Given the description of an element on the screen output the (x, y) to click on. 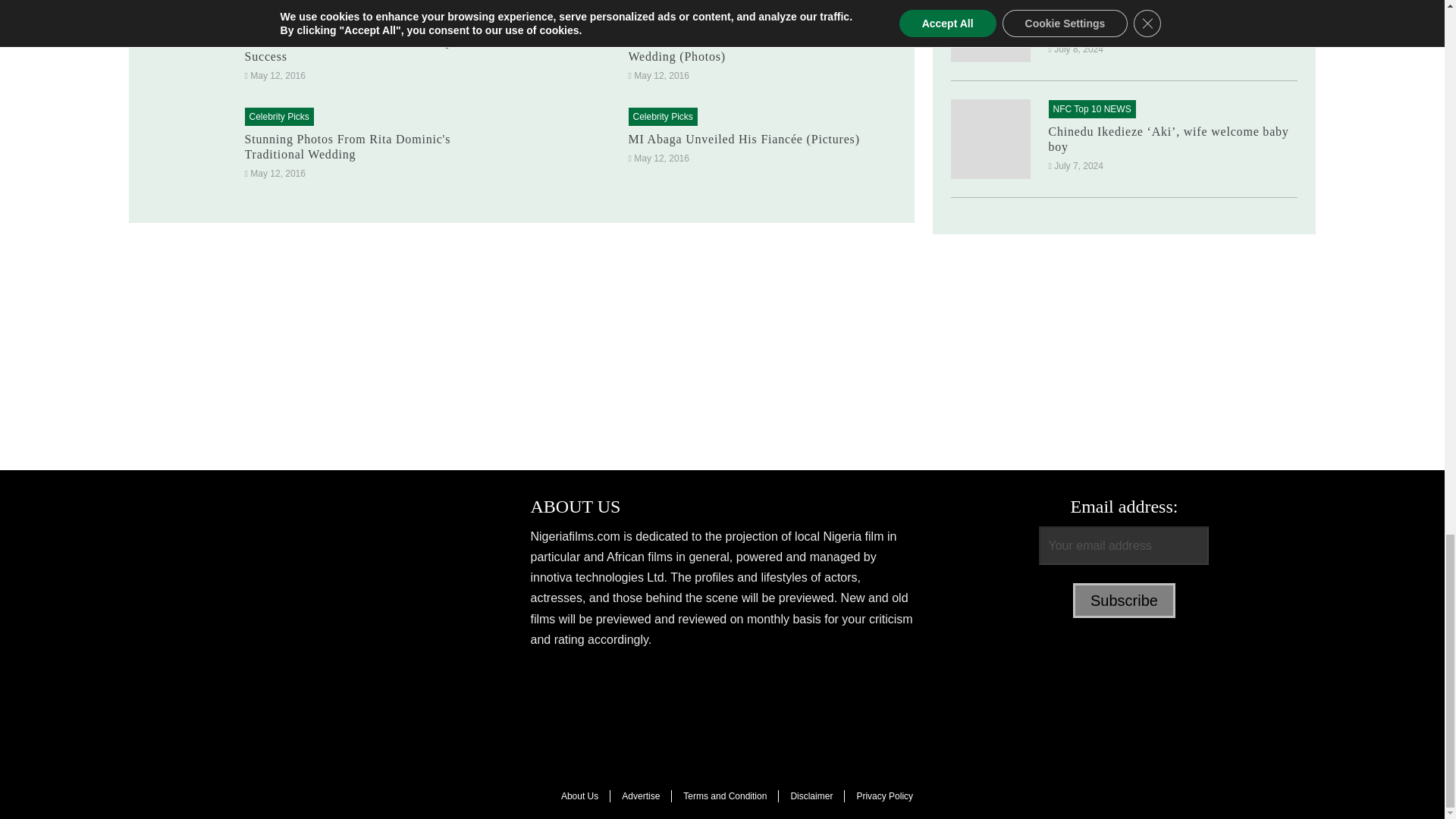
Subscribe (1123, 600)
